Given the description of an element on the screen output the (x, y) to click on. 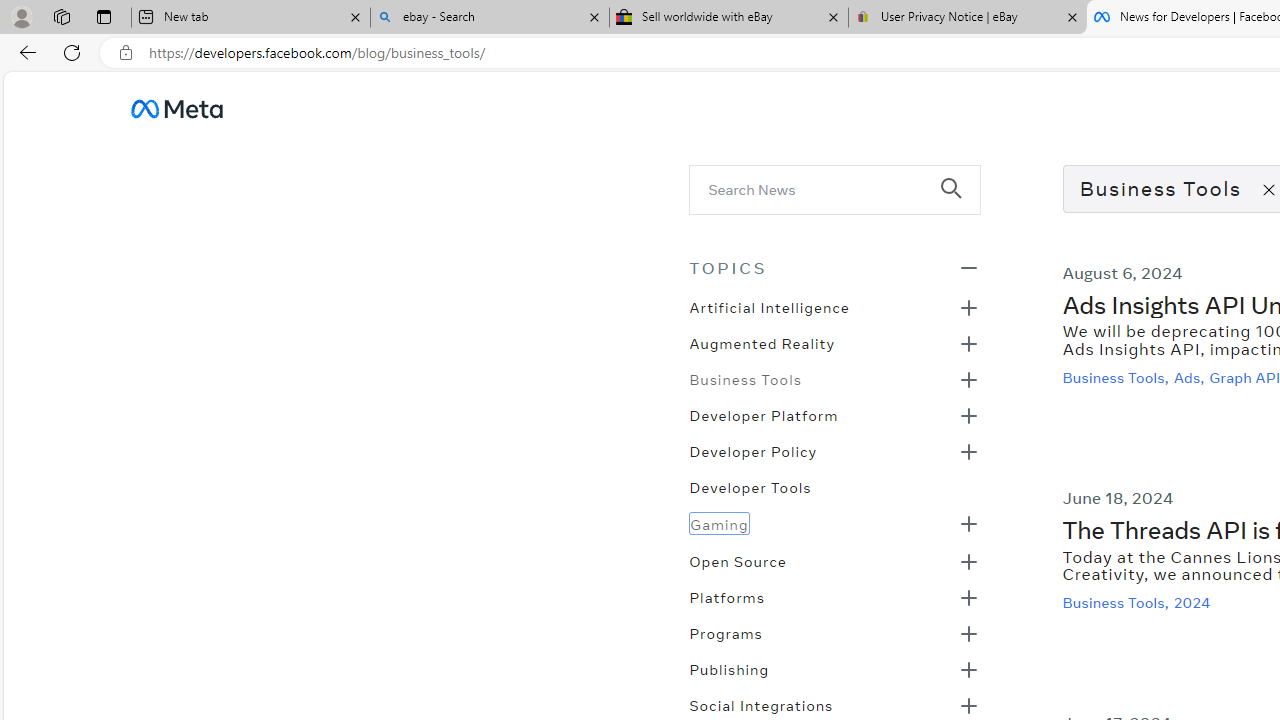
Publishing (729, 667)
Ads, (1190, 377)
Class: _58al (820, 188)
User Privacy Notice | eBay (967, 17)
Developer Platform (763, 413)
Social Integrations (761, 703)
2024 (1194, 602)
Class: _98ce (959, 201)
Sell worldwide with eBay (729, 17)
Open Source (737, 559)
Artificial Intelligence (768, 305)
Developer Policy (752, 449)
